Given the description of an element on the screen output the (x, y) to click on. 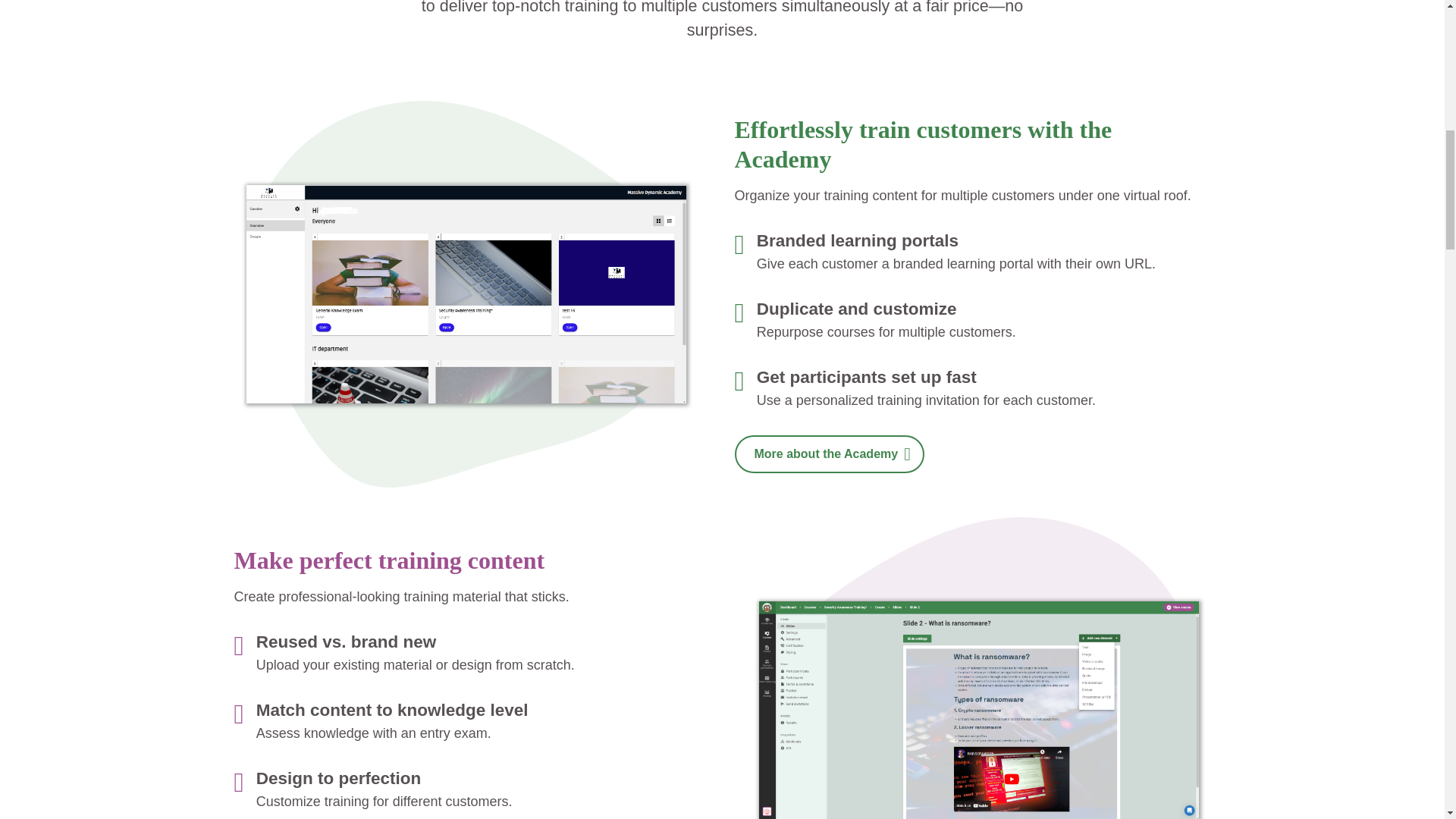
More about the Academy (828, 453)
